Given the description of an element on the screen output the (x, y) to click on. 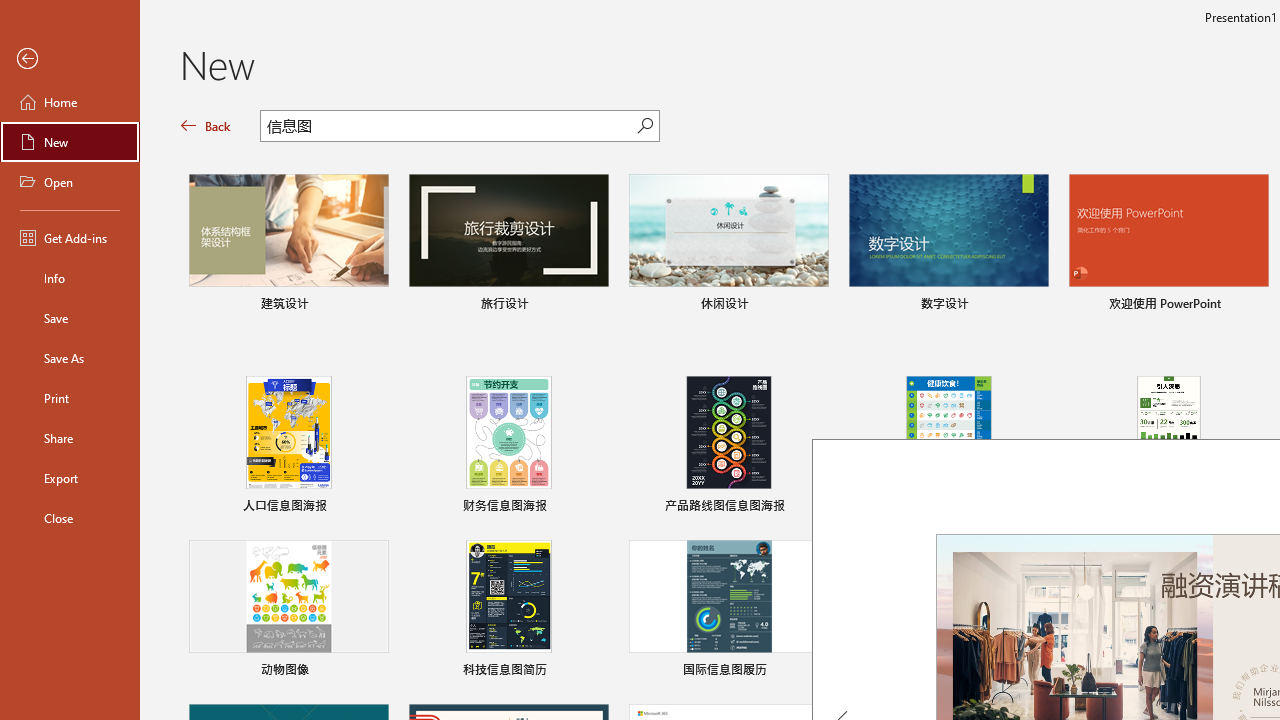
Info (69, 277)
Save As (69, 357)
Back (205, 125)
Start searching (645, 125)
